Given the description of an element on the screen output the (x, y) to click on. 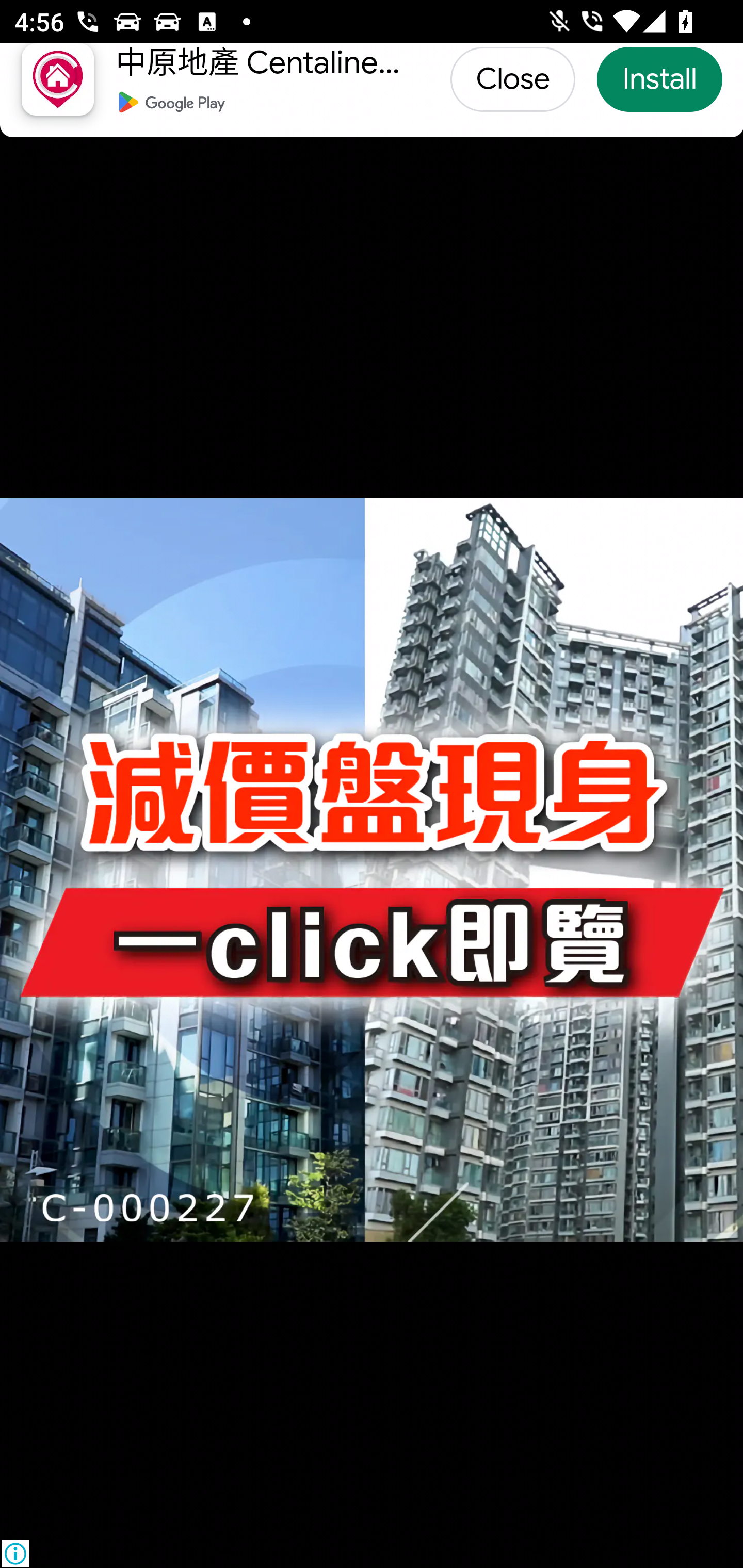
Close (512, 79)
Install (659, 79)
